Given the description of an element on the screen output the (x, y) to click on. 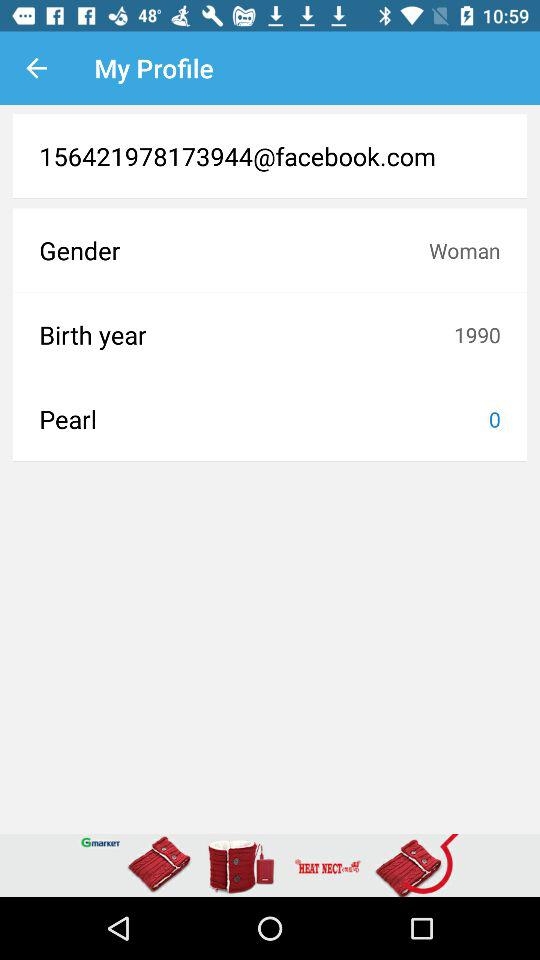
tap the icon above pearl icon (246, 334)
